Given the description of an element on the screen output the (x, y) to click on. 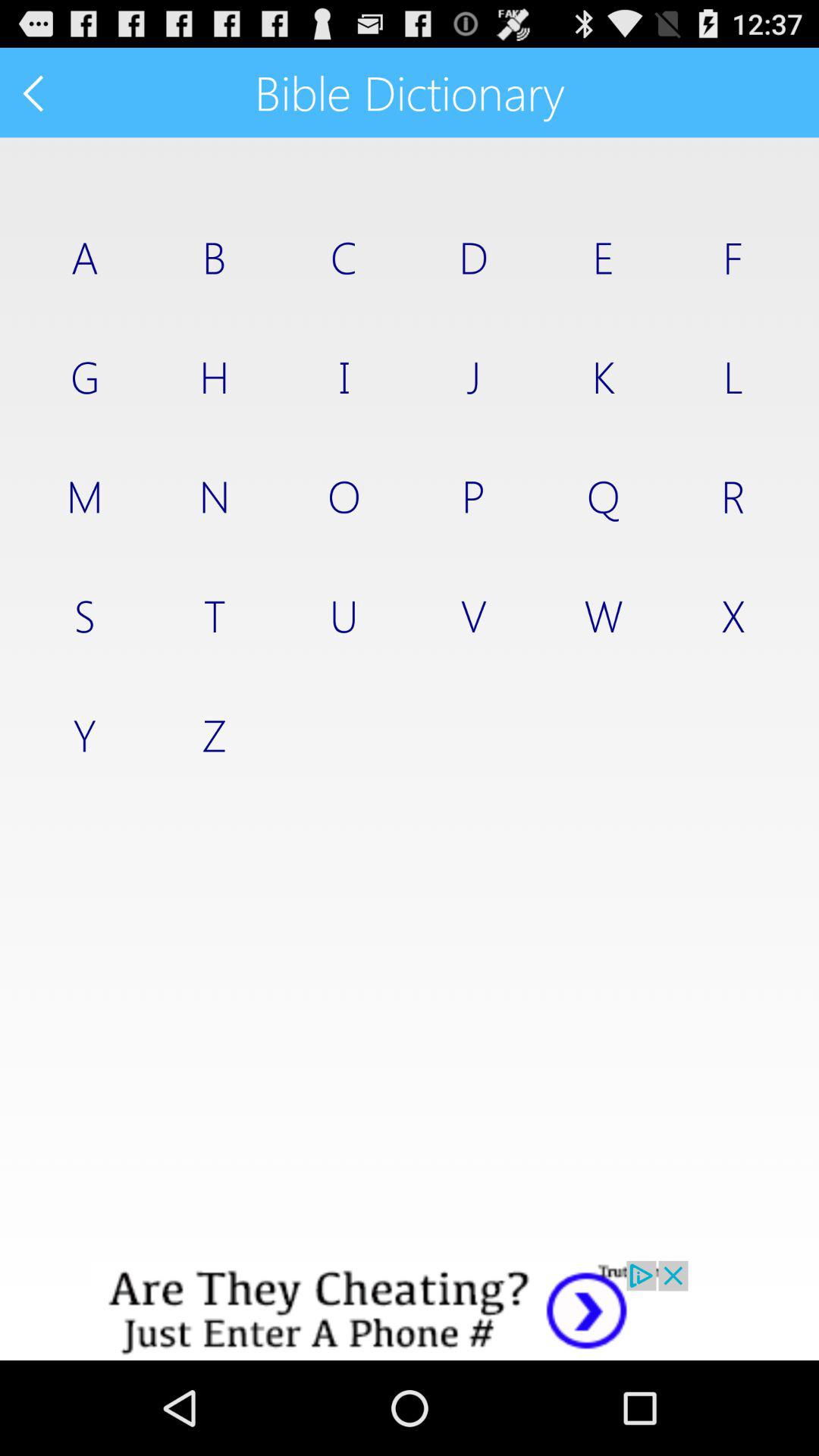
go to previous (34, 92)
